Given the description of an element on the screen output the (x, y) to click on. 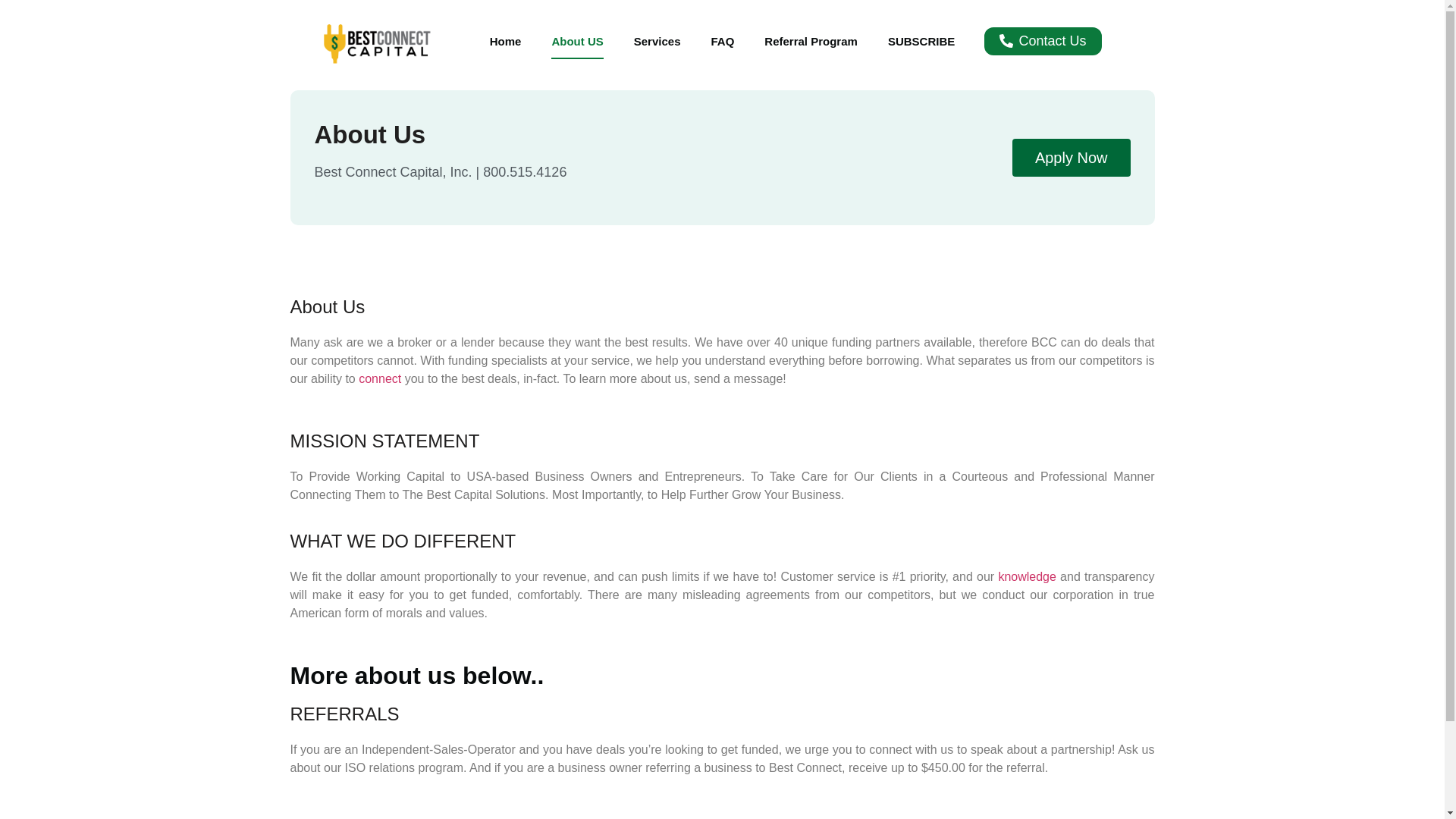
Contact Us (1042, 41)
Home (505, 41)
Services (657, 41)
Apply Now (1071, 157)
knowledge  (1028, 576)
SUBSCRIBE (921, 41)
connect  (381, 378)
About US (576, 41)
Referral Program (810, 41)
